Given the description of an element on the screen output the (x, y) to click on. 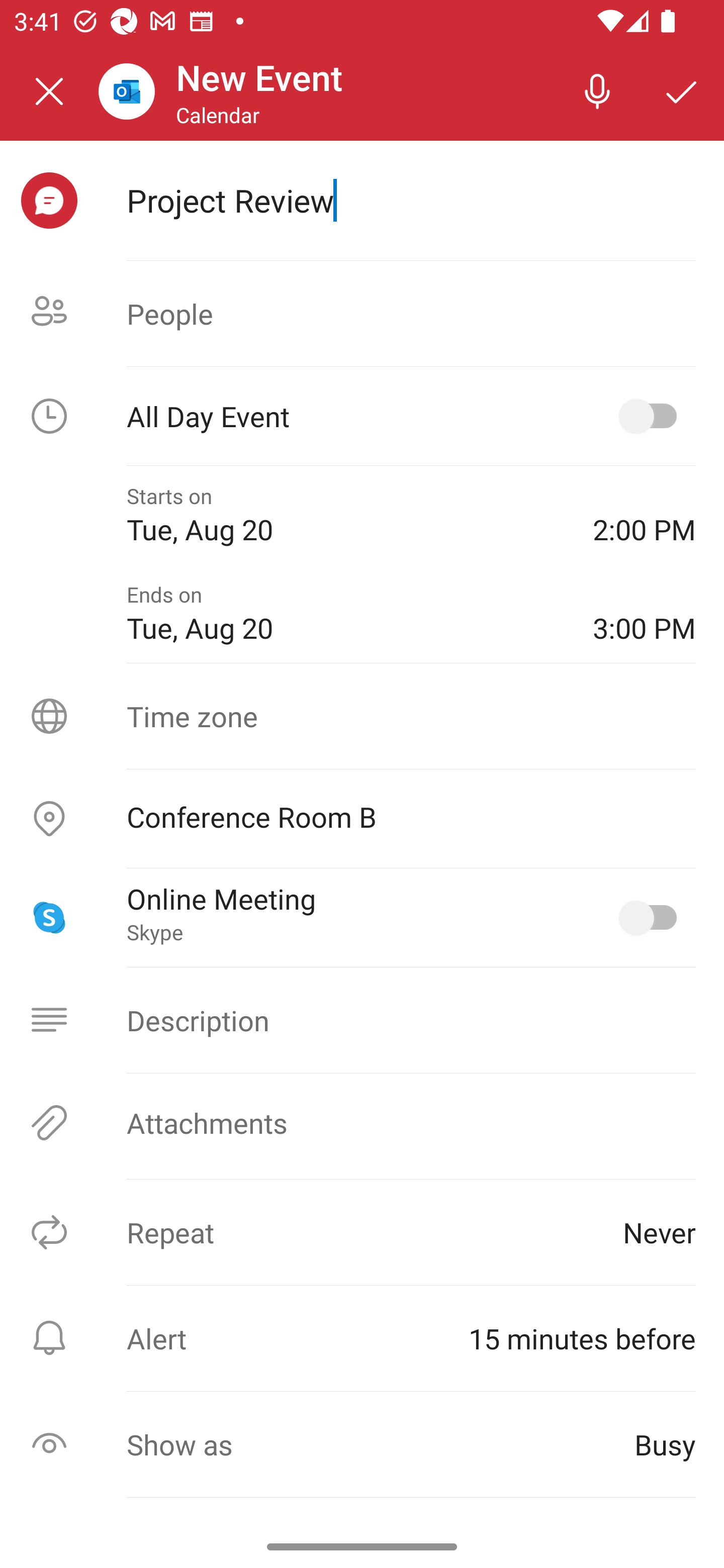
Close (49, 91)
Save (681, 90)
Project Review (410, 200)
review selected, event icon picker (48, 200)
People (362, 313)
All Day Event (362, 415)
Starts on Tue, Aug 20 (345, 514)
2:00 PM (644, 514)
Ends on Tue, Aug 20 (345, 613)
3:00 PM (644, 613)
Time zone (362, 715)
Location, Conference Room B Conference Room B (362, 818)
Online Meeting, Skype selected (651, 917)
Description (362, 1019)
Attachments (362, 1122)
Repeat Never (362, 1232)
Alert ⁨15 minutes before (362, 1337)
Show as Busy (362, 1444)
